Given the description of an element on the screen output the (x, y) to click on. 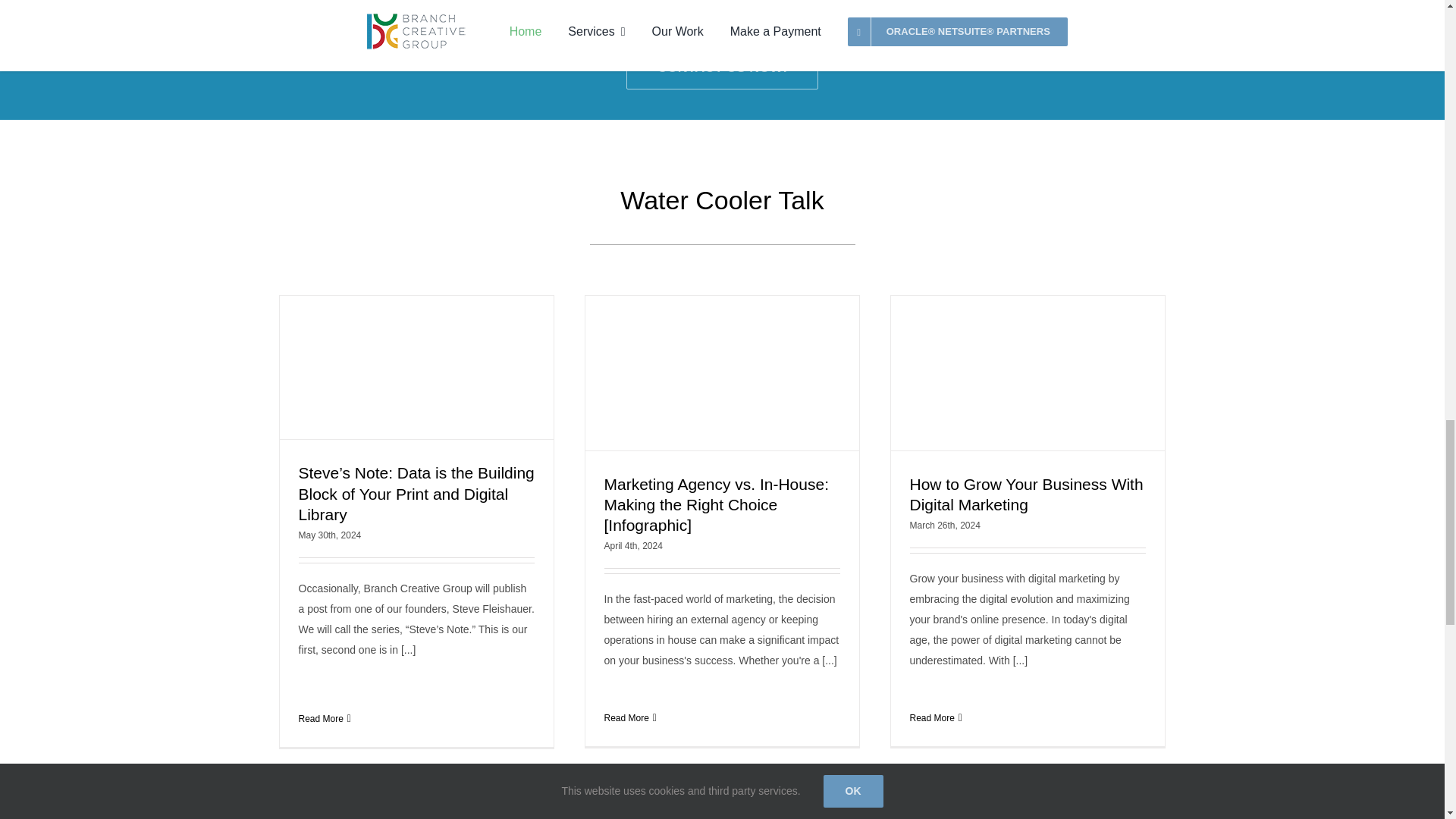
Read More (320, 718)
LOAD MORE POSTS (722, 798)
How to Grow Your Business With Digital Marketing (1026, 494)
Read More (932, 717)
CONTACT US NOW! (722, 67)
Read More (625, 717)
